Given the description of an element on the screen output the (x, y) to click on. 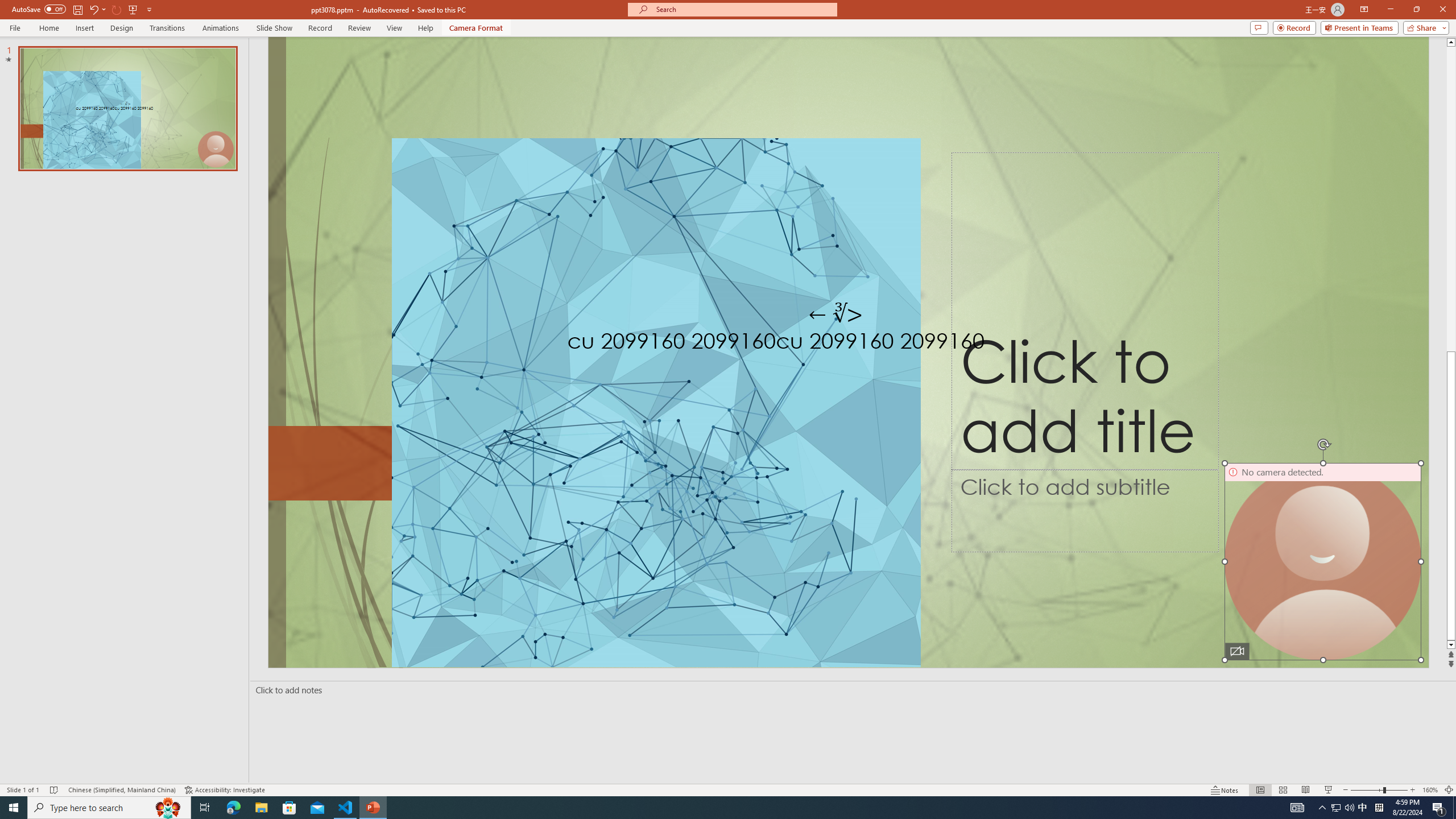
Camera Format (475, 28)
